Given the description of an element on the screen output the (x, y) to click on. 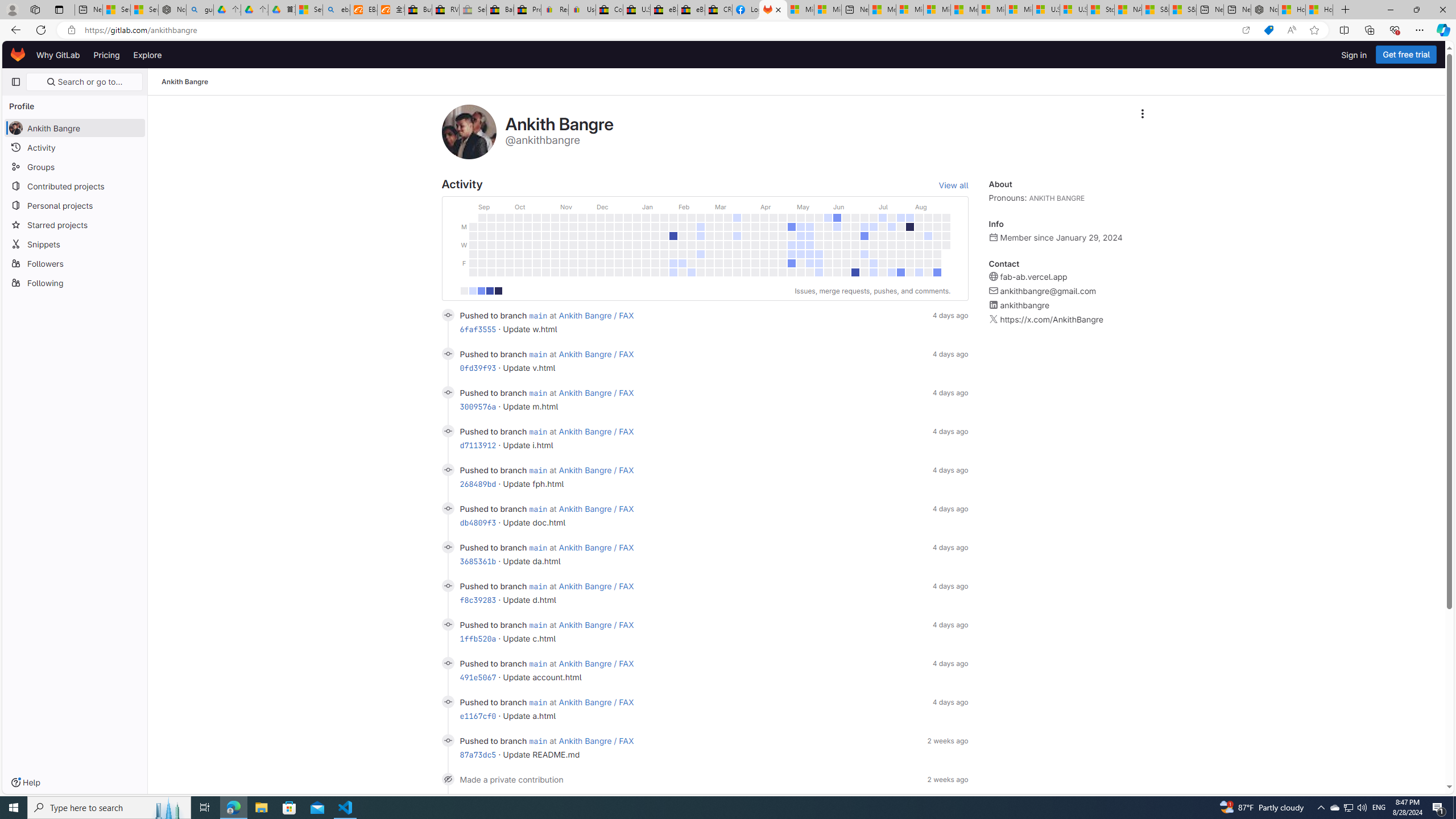
Why GitLab (58, 54)
Activity (74, 147)
Class: s16 gl-fill-icon-subtle gl-mt-1 flex-shrink-0 (993, 319)
